Given the description of an element on the screen output the (x, y) to click on. 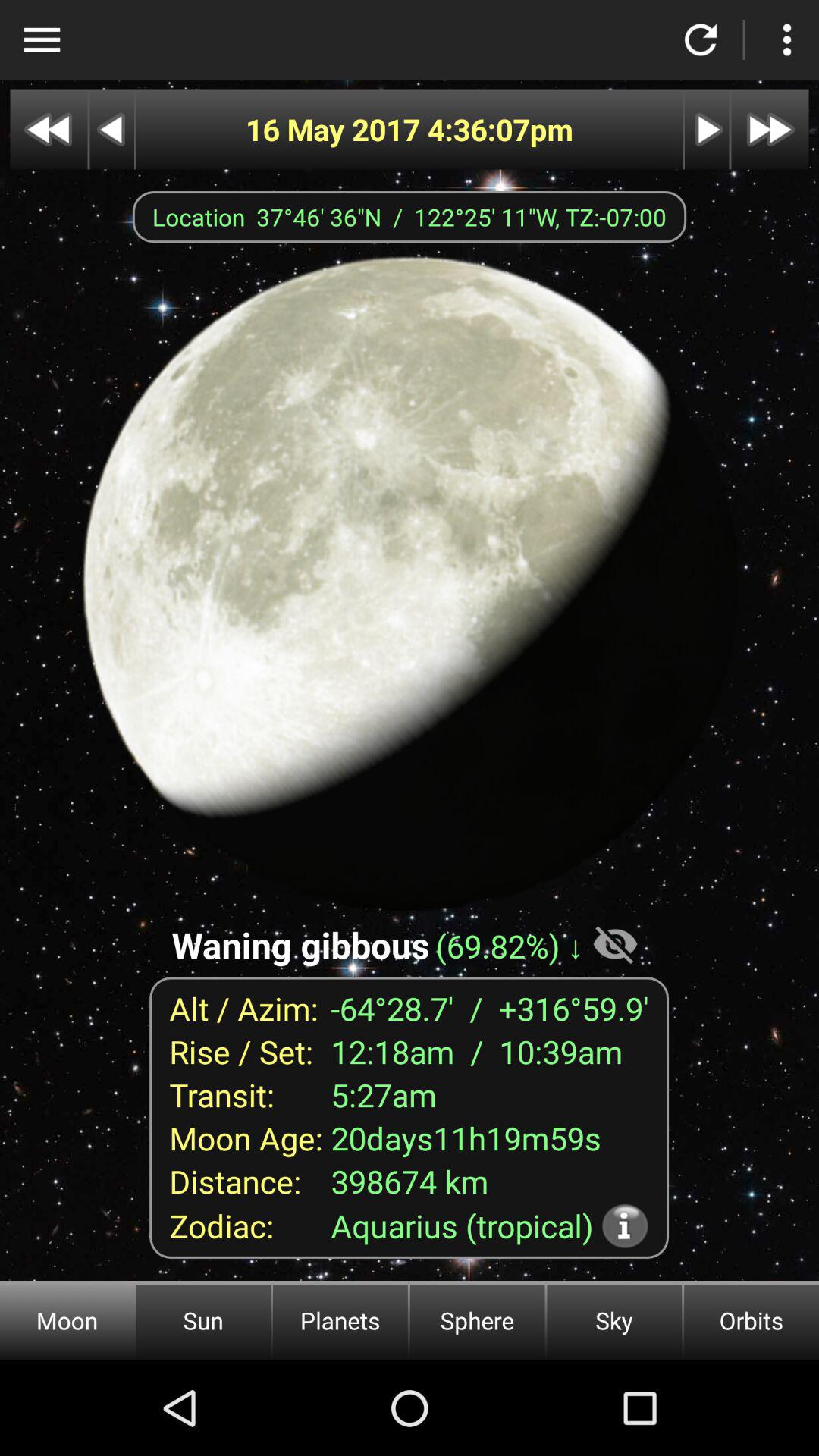
go to beginning (48, 129)
